Given the description of an element on the screen output the (x, y) to click on. 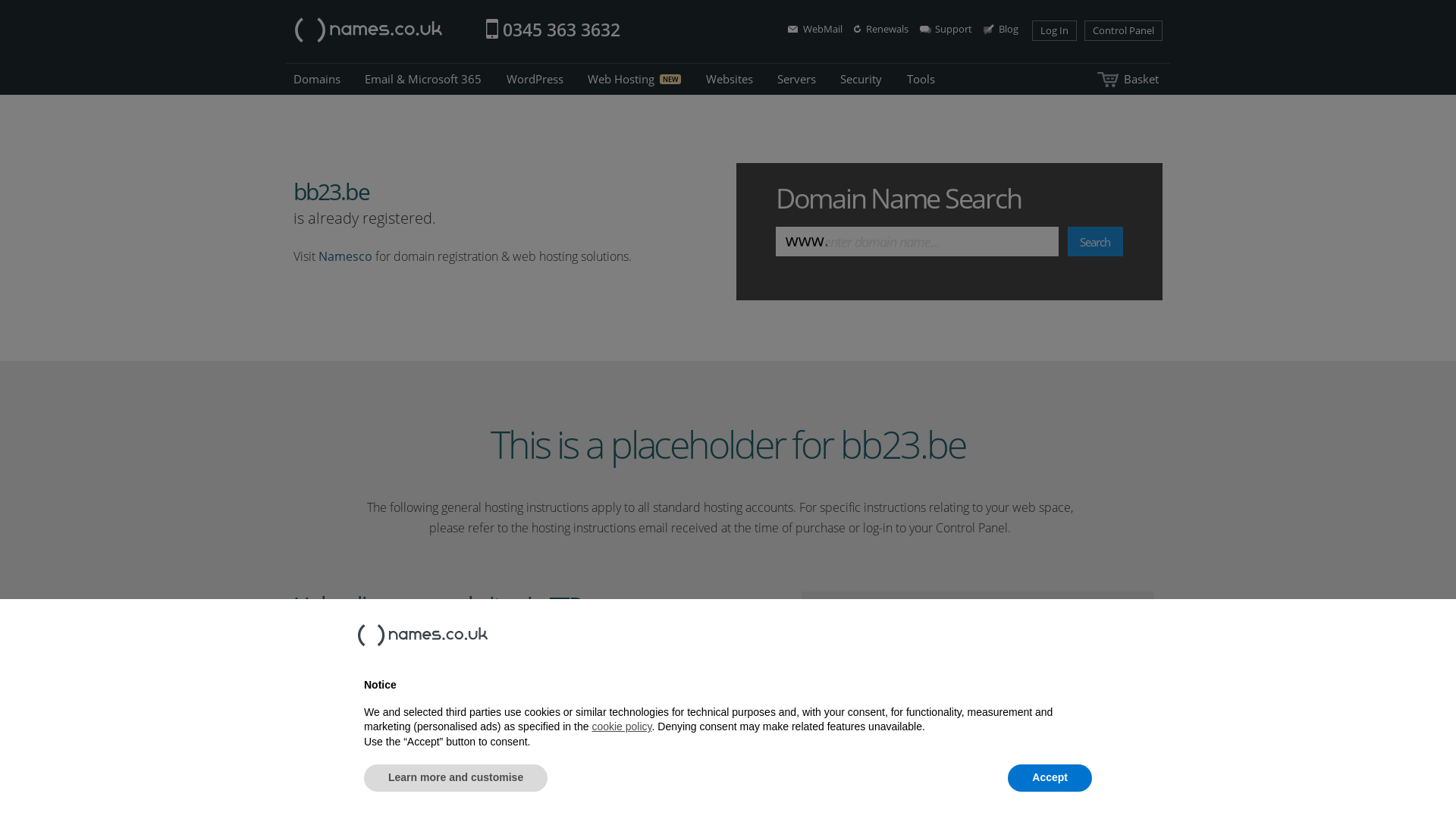
Web Hosting NEW Element type: text (633, 78)
Email & Microsoft 365 Element type: text (422, 78)
0345 363 3632 Element type: text (561, 29)
Learn more and customise Element type: text (455, 777)
Renewals Element type: text (880, 28)
Security Element type: text (860, 78)
Namesco Element type: text (345, 255)
Tools Element type: text (920, 78)
Support Element type: text (945, 28)
Log In Element type: text (1054, 30)
VAT Element type: text (1442, 673)
Control Panel Element type: text (1123, 30)
Websites Element type: text (729, 78)
Accept Element type: text (1049, 777)
Blog Element type: text (1000, 28)
Search Element type: text (1095, 241)
Domains Element type: text (316, 78)
WordPress Element type: text (534, 78)
WebMail Element type: text (814, 28)
Basket Element type: text (1127, 78)
cookie policy Element type: text (621, 726)
Servers Element type: text (796, 78)
